Given the description of an element on the screen output the (x, y) to click on. 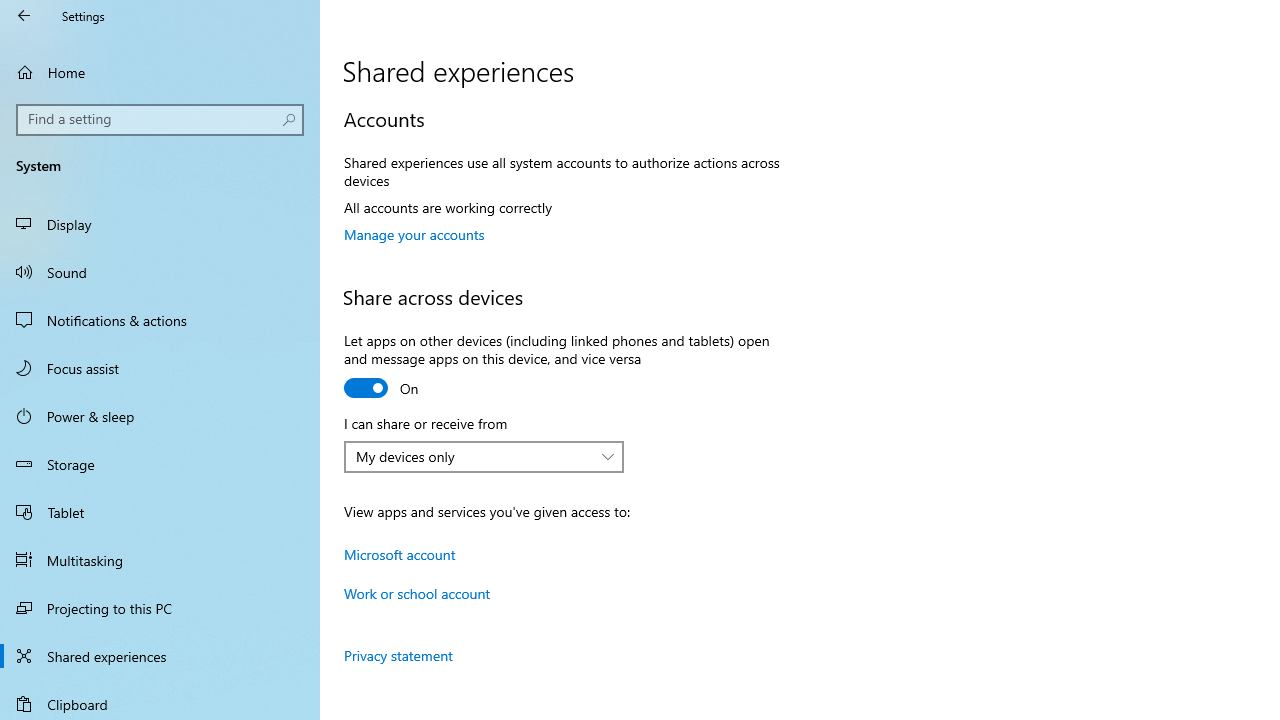
Sound (160, 271)
Multitasking (160, 559)
Privacy statement (398, 655)
Shared experiences (160, 655)
Display (160, 223)
Focus assist (160, 367)
My devices only (473, 456)
Manage your accounts (414, 234)
Home (160, 71)
Storage (160, 463)
Projecting to this PC (160, 607)
Search box, Find a setting (160, 119)
Microsoft account (399, 554)
Work or school account (417, 593)
